Given the description of an element on the screen output the (x, y) to click on. 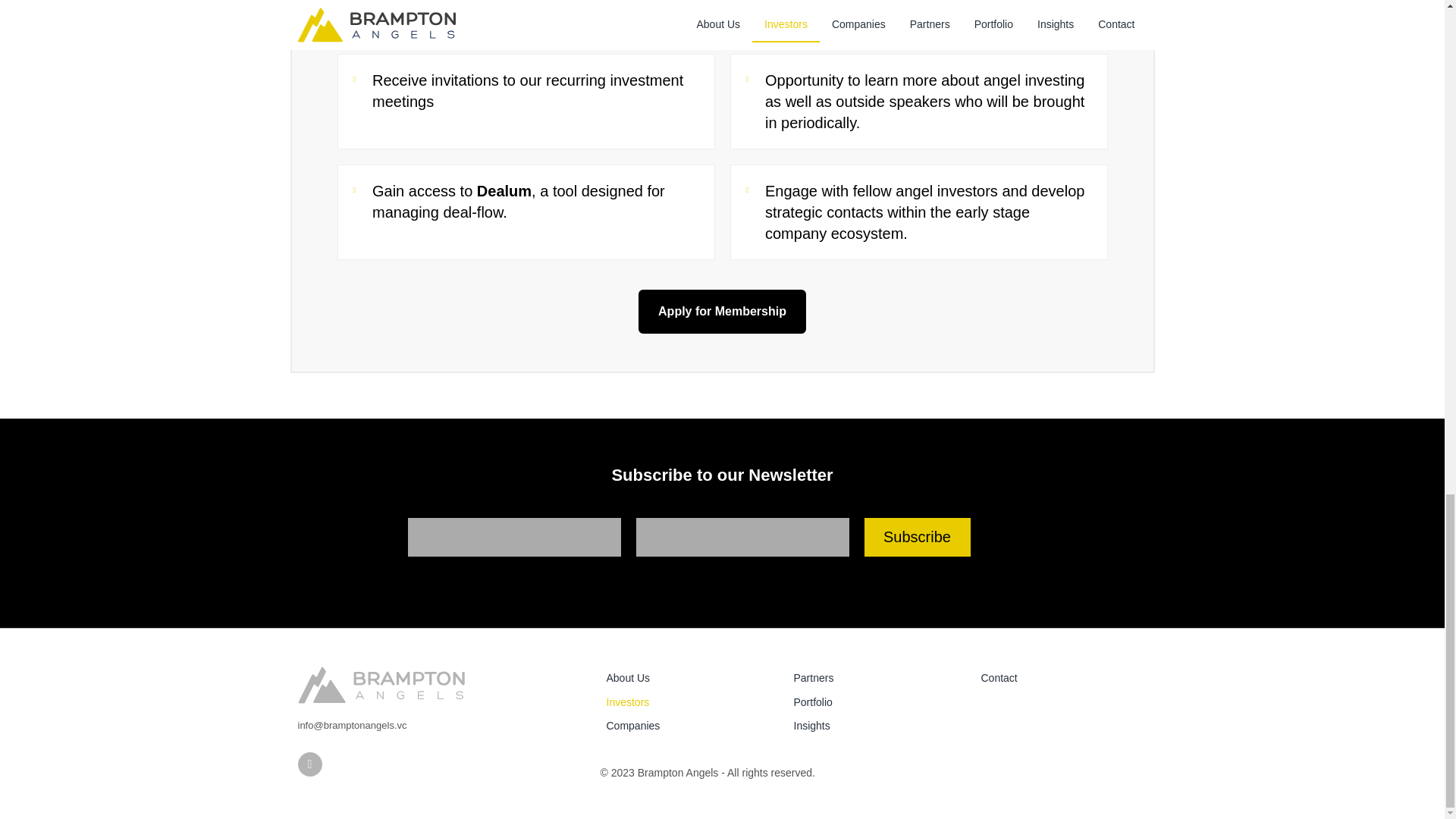
Subscribe (917, 536)
Portfolio (873, 702)
About Us (687, 678)
Partners (873, 678)
Contact (1061, 678)
Companies (687, 726)
logo-grey.svg (380, 684)
Insights (873, 726)
Subscribe (917, 536)
Investors (687, 702)
Apply for Membership (722, 311)
